Given the description of an element on the screen output the (x, y) to click on. 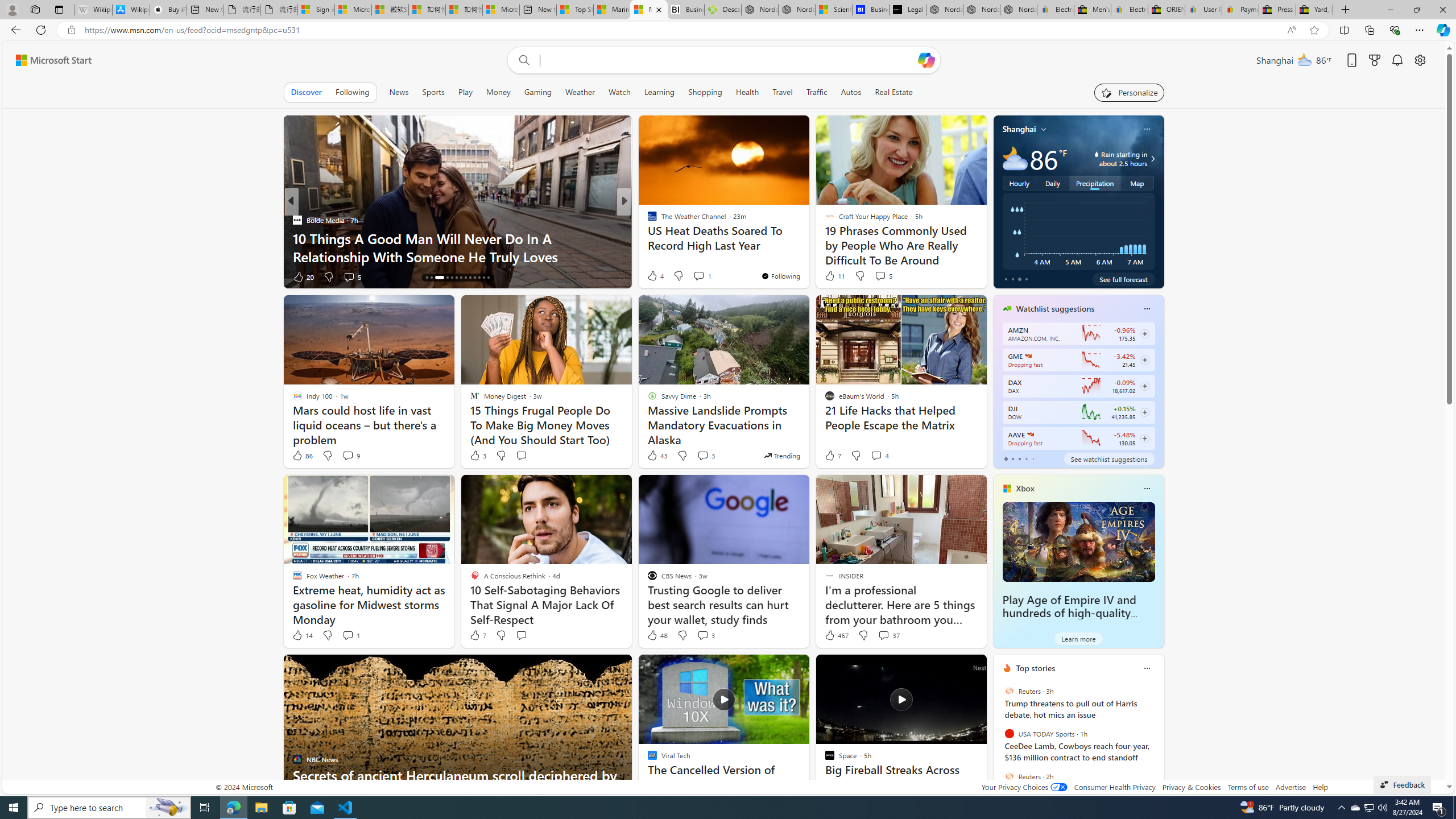
You're following MSNBC (949, 279)
View comments 37 Comment (883, 635)
Privacy & Cookies (1191, 786)
'Pretty spectacular' discovery in George Washington's cellar (807, 247)
Hourly (1018, 183)
View comments 1 Comment (350, 634)
Top Stories - MSN (574, 9)
AutomationID: tab-19 (456, 277)
tab-3 (1025, 458)
